Given the description of an element on the screen output the (x, y) to click on. 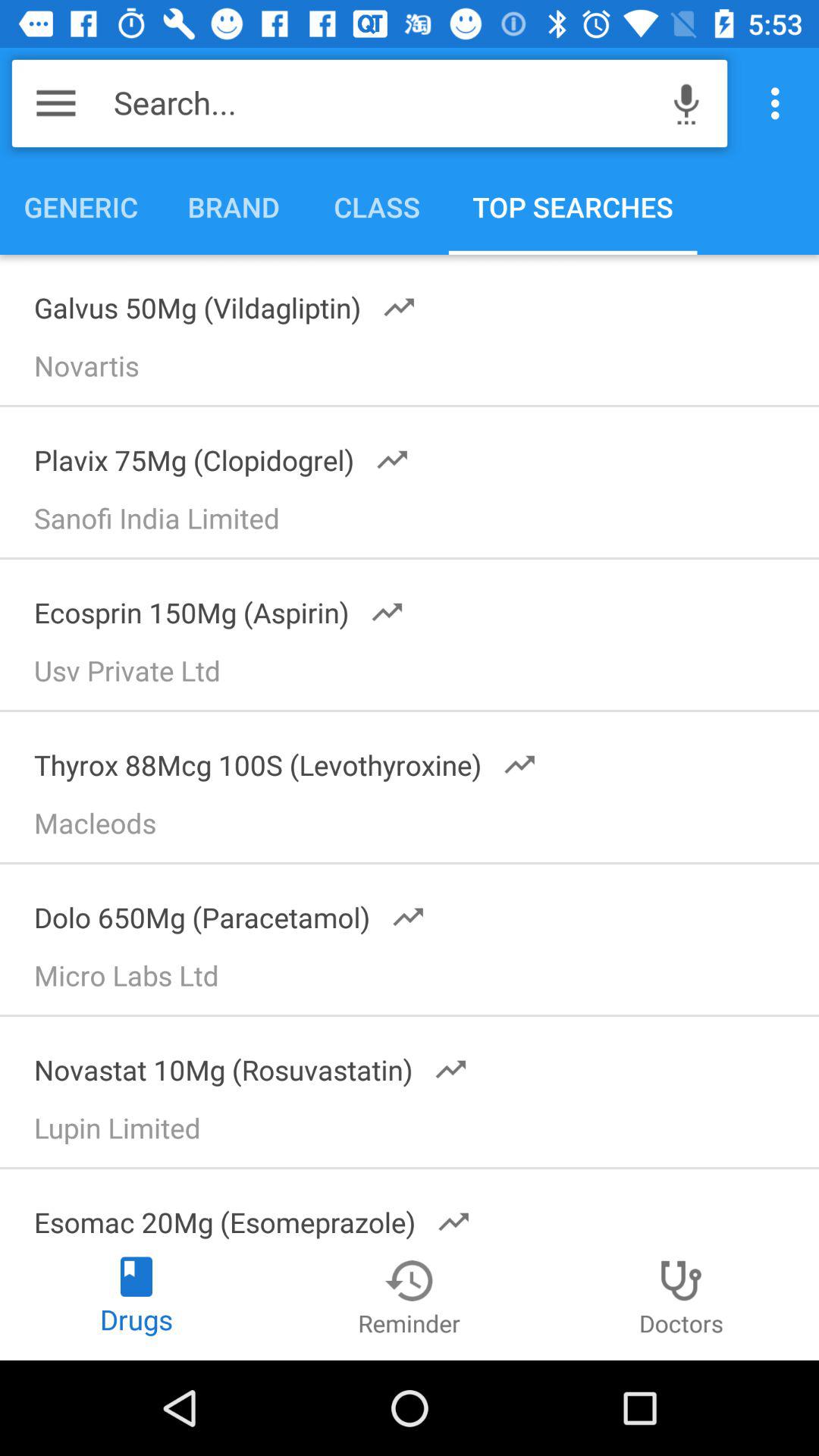
launch item to the left of search... icon (55, 103)
